Given the description of an element on the screen output the (x, y) to click on. 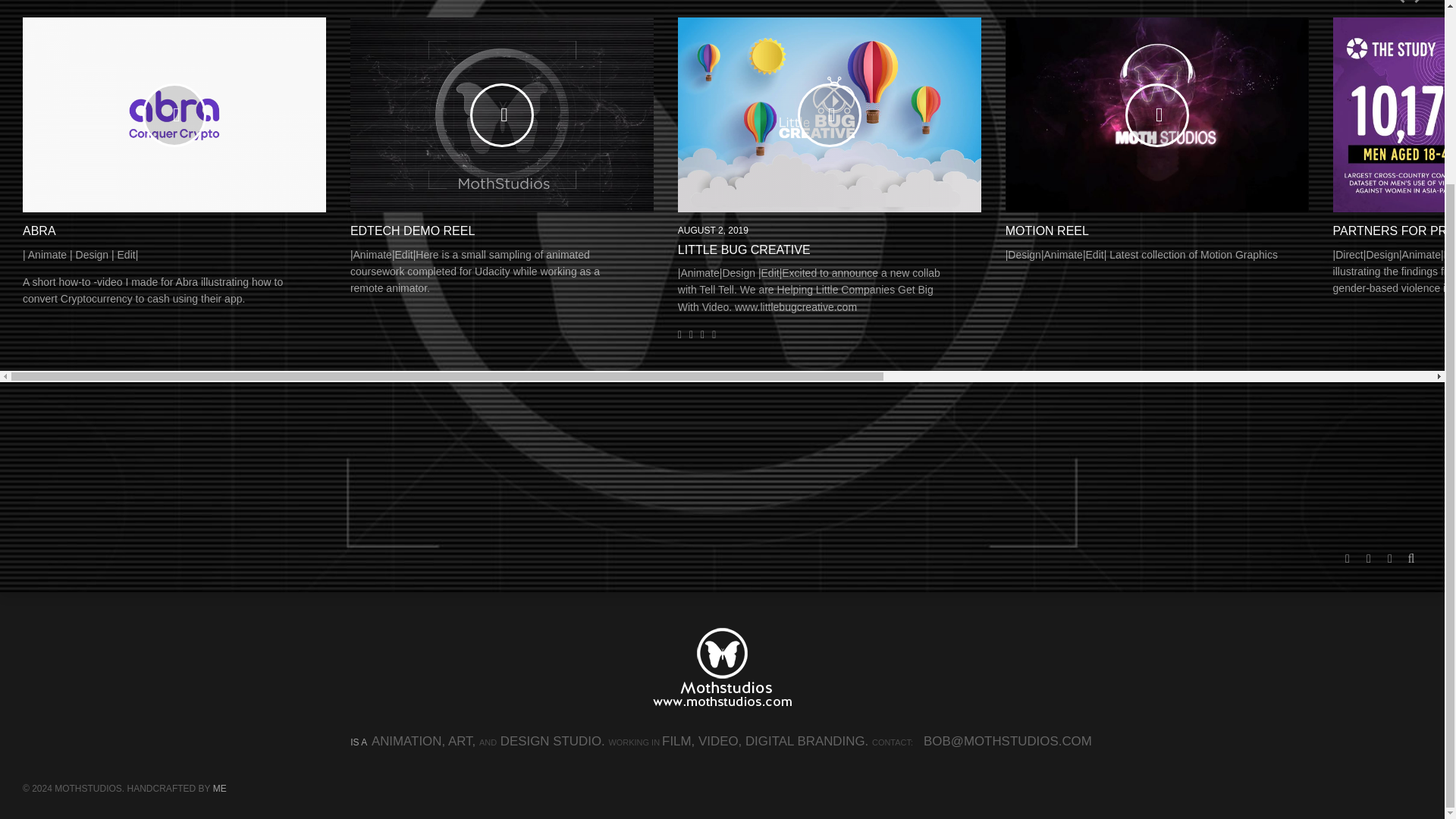
ME (219, 561)
